Given the description of an element on the screen output the (x, y) to click on. 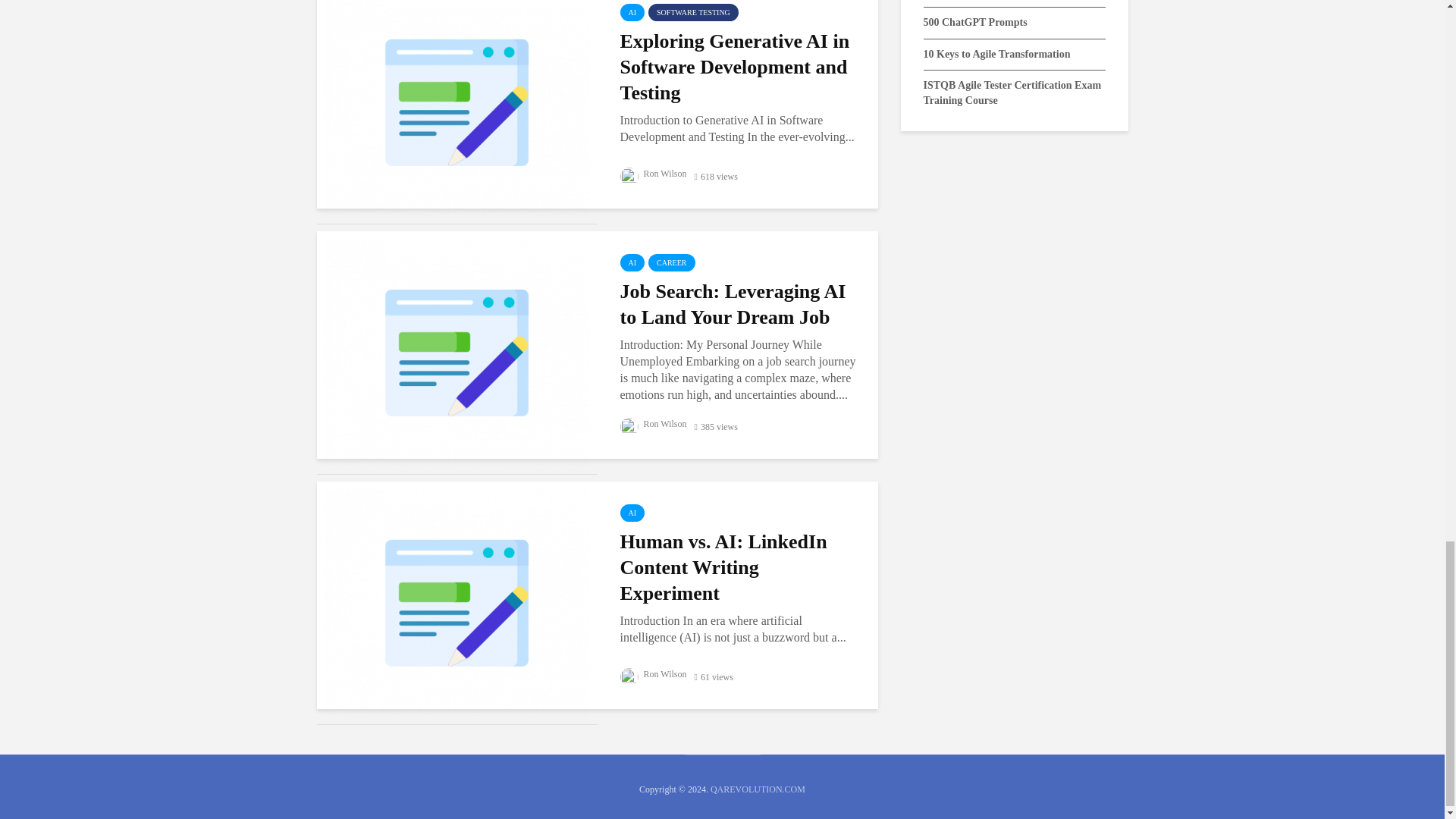
Exploring Generative AI in Software Development and Testing (456, 101)
Human vs. AI: LinkedIn Content Writing Experiment (456, 601)
Job Search: Leveraging AI to Land Your Dream Job (456, 350)
